Given the description of an element on the screen output the (x, y) to click on. 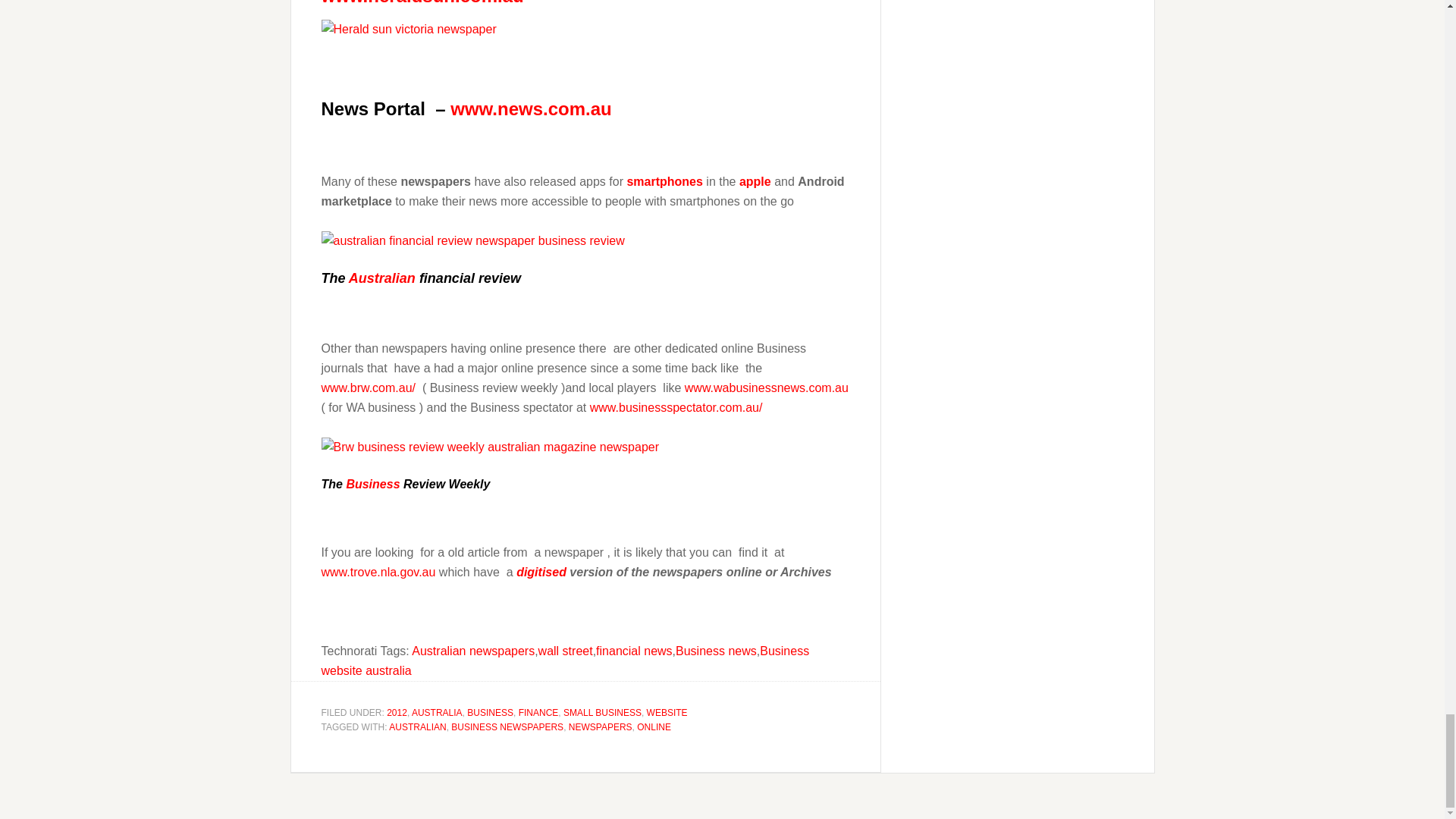
Brw business review weekly australian magazine (490, 447)
australian financial review  newspaper business review (472, 240)
Kitchen Gadget (541, 571)
Herald sun  victoria newspaper (408, 29)
